Given the description of an element on the screen output the (x, y) to click on. 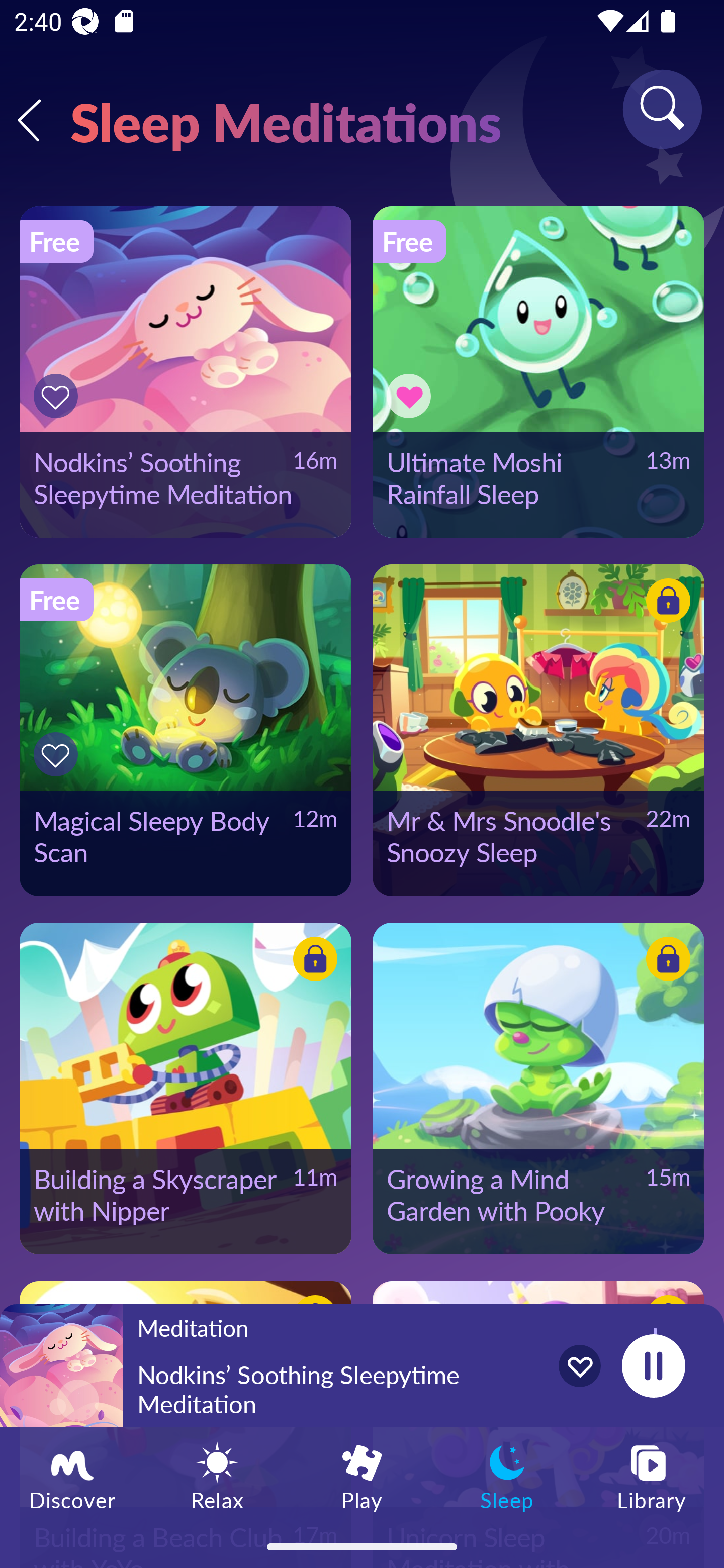
Button (58, 395)
Button (411, 395)
Button (665, 603)
Button (58, 753)
Button (311, 960)
Button (665, 960)
0.01354375 Pause (653, 1365)
Discover (72, 1475)
Relax (216, 1475)
Play (361, 1475)
Library (651, 1475)
